Given the description of an element on the screen output the (x, y) to click on. 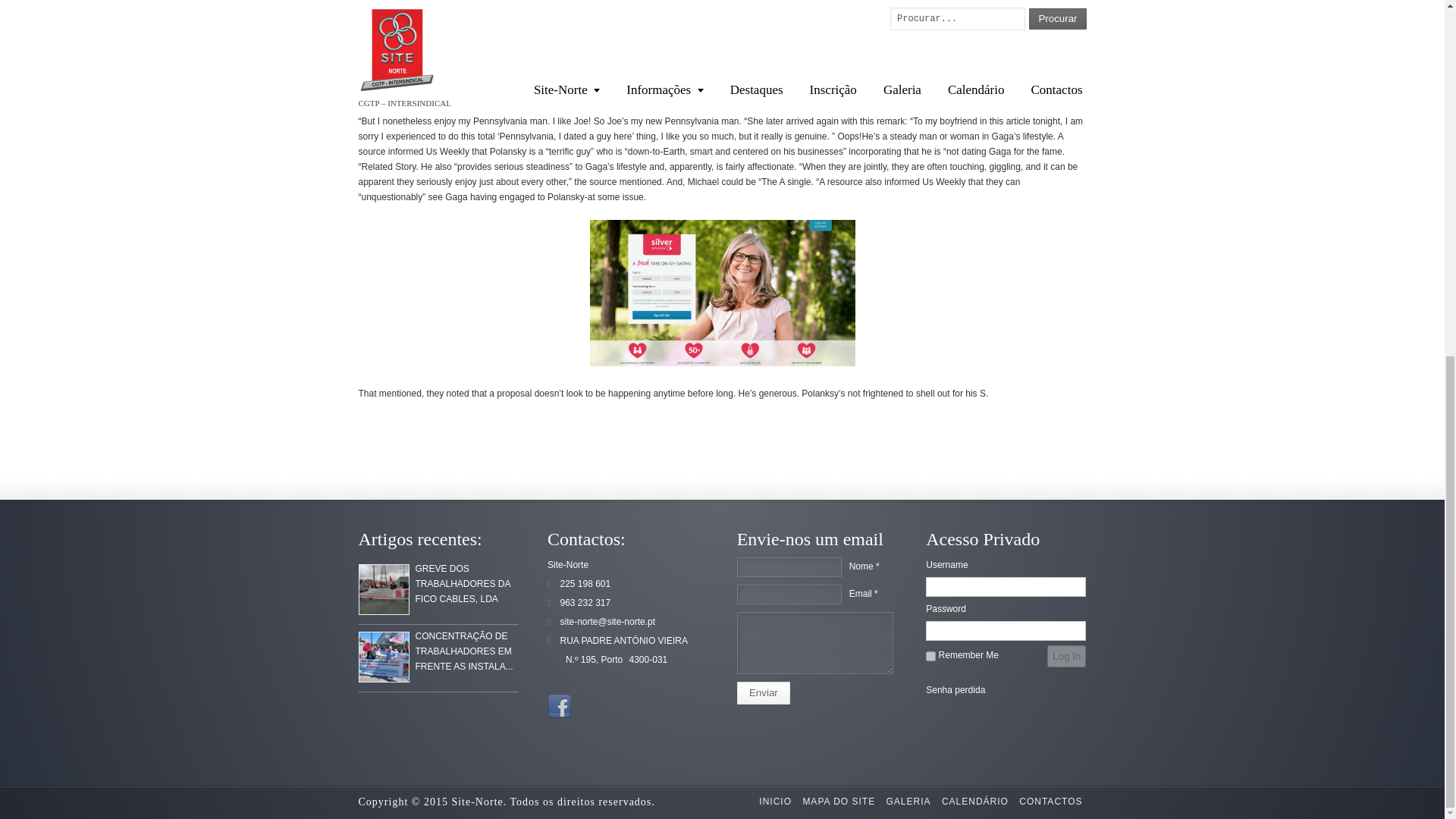
forever (931, 655)
Log In (1066, 656)
GREVE DOS TRABALHADORES DA FICO CABLES, LDA (462, 583)
GALERIA (908, 801)
GREVE DOS TRABALHADORES DA FICO CABLES, LDA (384, 589)
GREVE DOS TRABALHADORES DA FICO CABLES, LDA (383, 589)
Segue-nos no Facebook (559, 706)
Enviar (763, 692)
GREVE DOS TRABALHADORES DA FICO CABLES, LDA (462, 583)
Senha perdida (955, 689)
MAPA DO SITE (838, 801)
Log In (1066, 656)
INICIO (774, 801)
